Given the description of an element on the screen output the (x, y) to click on. 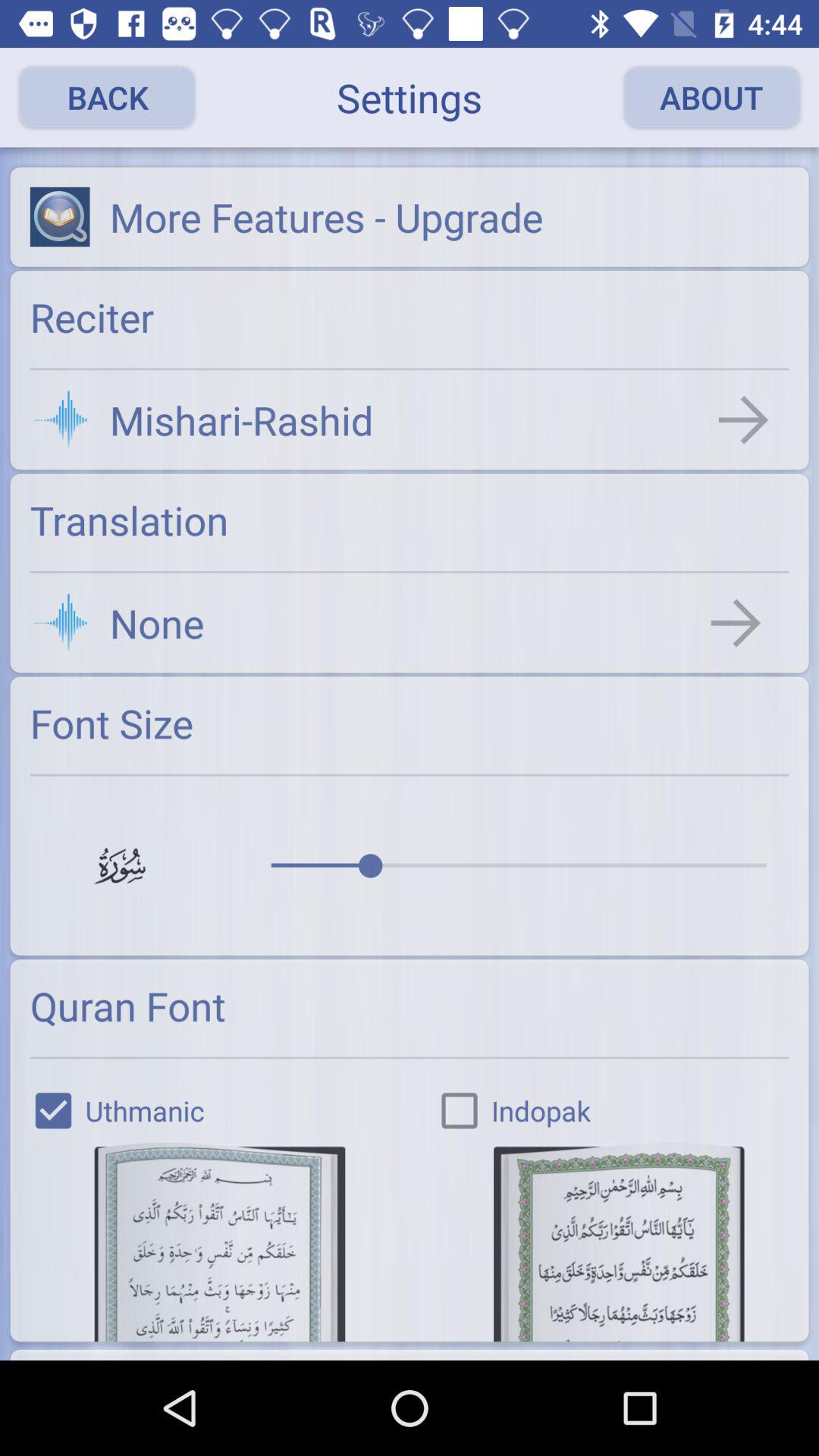
choose the font of the text (618, 1241)
